Given the description of an element on the screen output the (x, y) to click on. 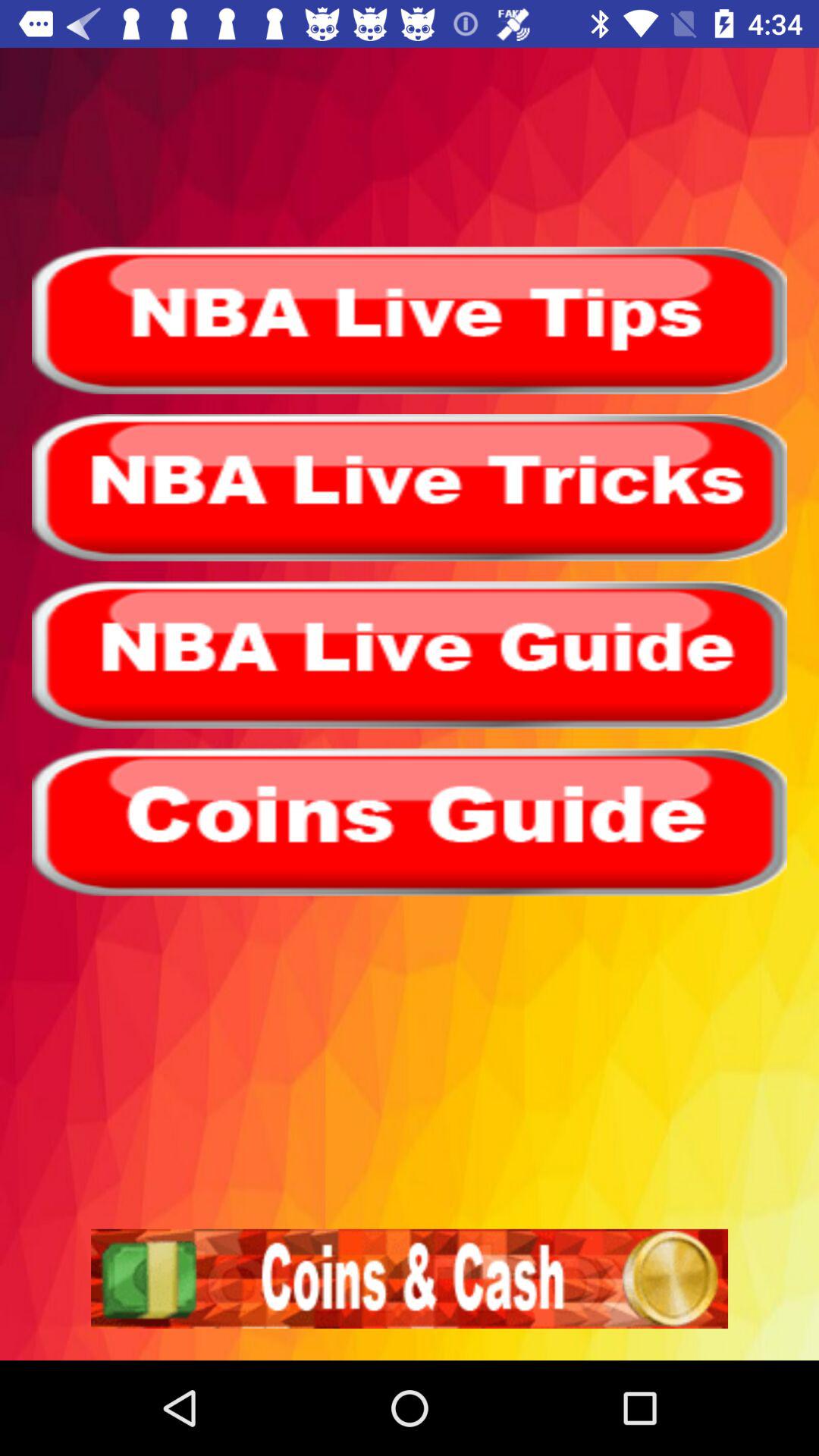
option for nba live tricks (409, 487)
